Given the description of an element on the screen output the (x, y) to click on. 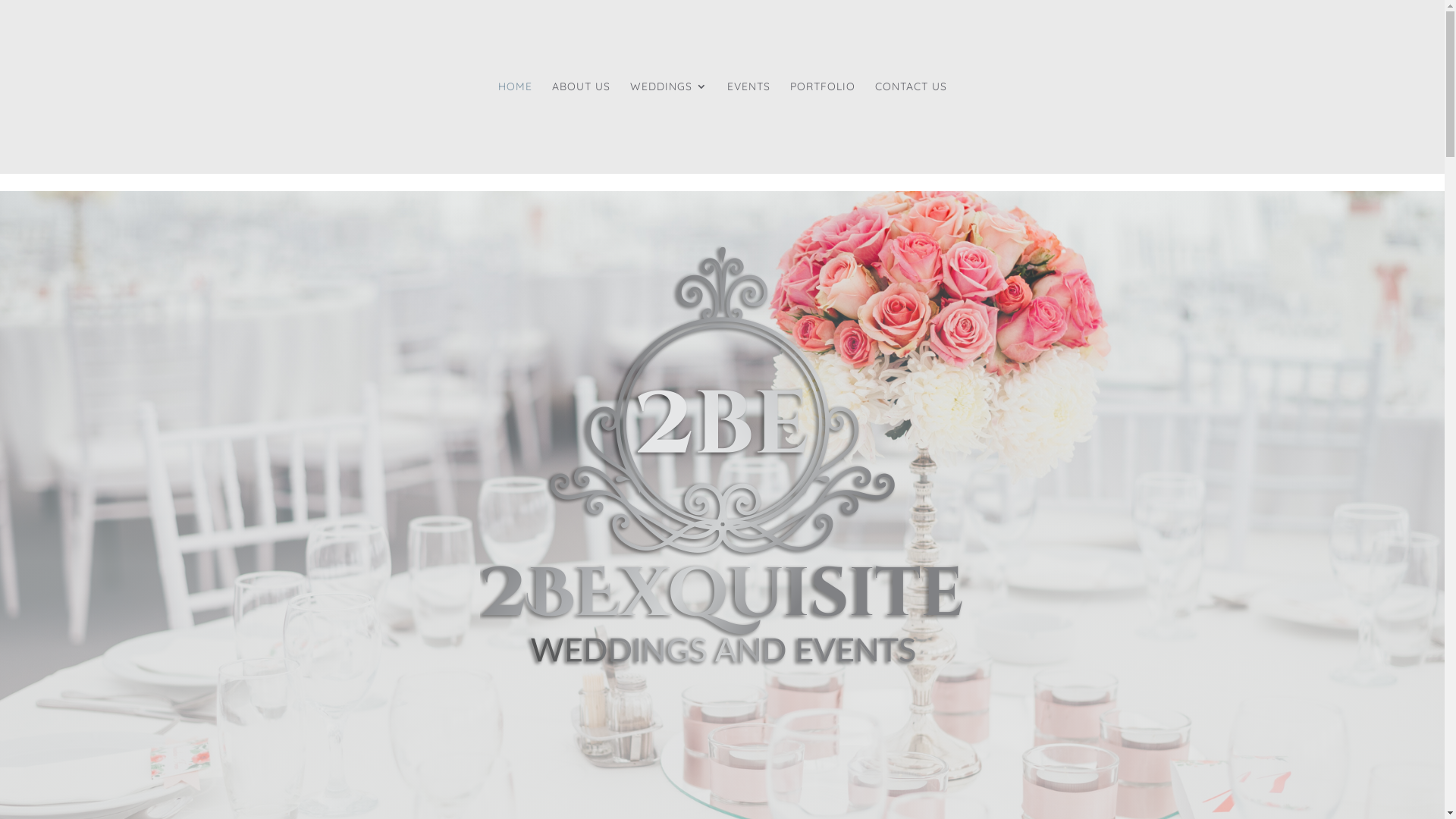
ABOUT US Element type: text (581, 126)
CONTACT US Element type: text (911, 126)
WEDDINGS Element type: text (667, 126)
EVENTS Element type: text (747, 126)
HOME Element type: text (514, 126)
full-logo-DS Element type: hover (721, 455)
PORTFOLIO Element type: text (822, 126)
